Given the description of an element on the screen output the (x, y) to click on. 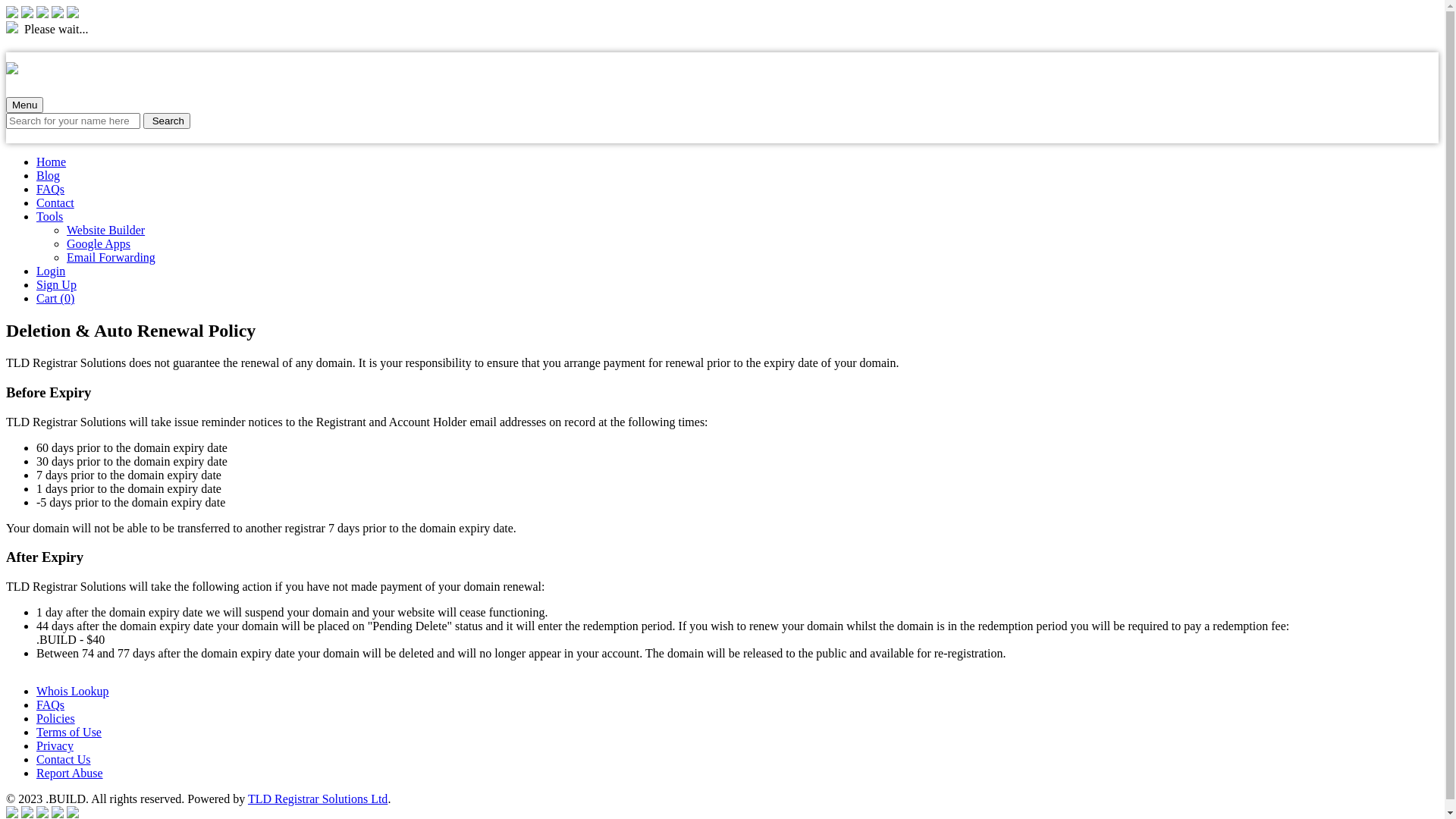
Website Builder Element type: text (105, 229)
Home Element type: text (50, 161)
TLD Registrar Solutions Ltd Element type: text (317, 798)
Whois Lookup Element type: text (72, 690)
Google Apps Element type: text (98, 243)
Cart (0) Element type: text (55, 297)
Contact Element type: text (55, 202)
Contact Us Element type: text (63, 759)
Policies Element type: text (55, 718)
FAQs Element type: text (50, 188)
FAQs Element type: text (50, 704)
Login Element type: text (50, 270)
 Search Element type: text (166, 120)
Menu Element type: text (24, 104)
Sign Up Element type: text (56, 284)
Report Abuse Element type: text (69, 772)
Blog Element type: text (47, 175)
Tools Element type: text (49, 216)
Privacy Element type: text (54, 745)
Email Forwarding Element type: text (110, 257)
Terms of Use Element type: text (68, 731)
